Given the description of an element on the screen output the (x, y) to click on. 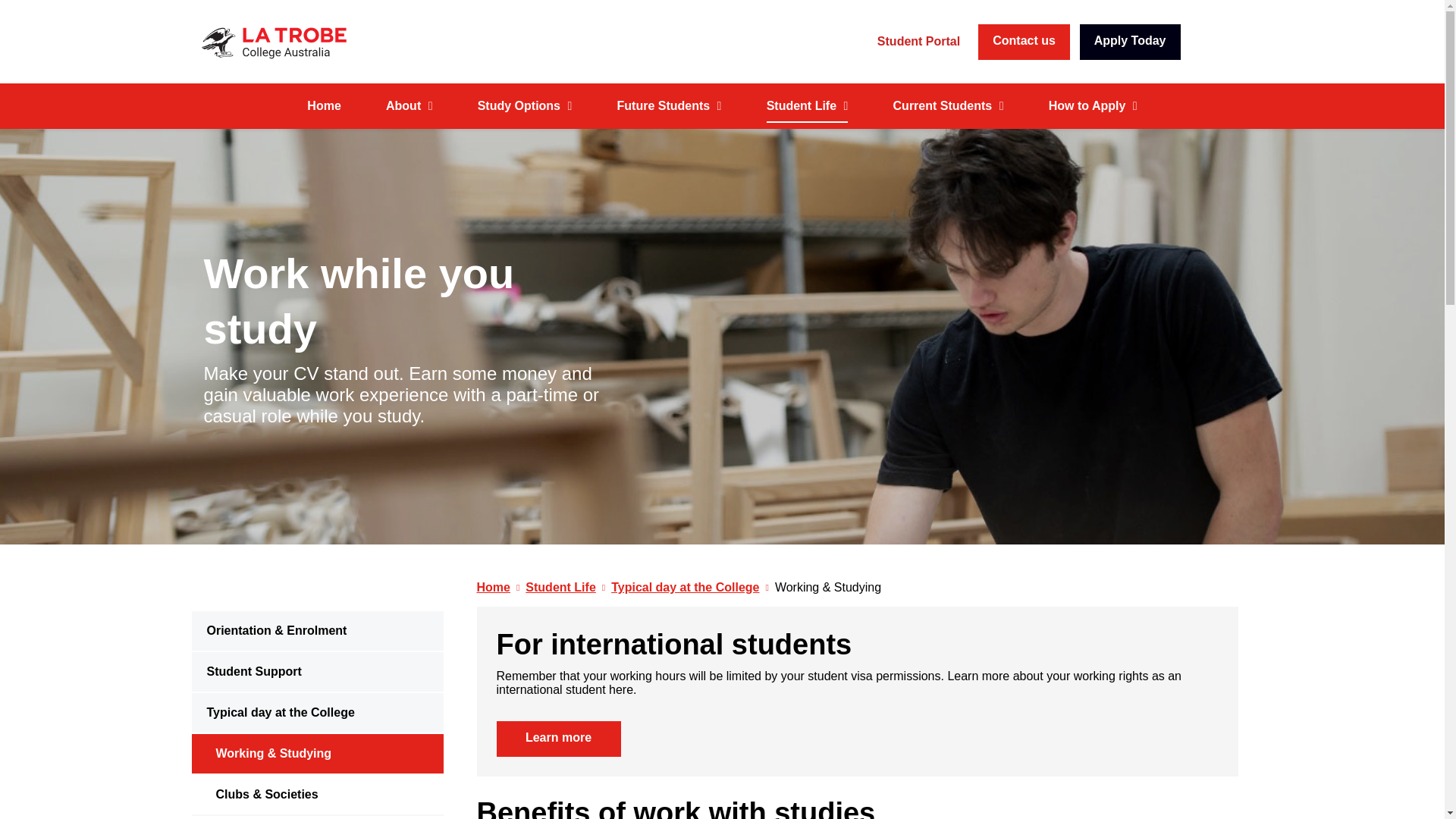
Student Portal (918, 41)
Study Options (524, 105)
Home (323, 105)
Apply Today (1130, 41)
Site Logo (316, 41)
About (408, 105)
Contact us (1024, 41)
Search (1224, 30)
